Given the description of an element on the screen output the (x, y) to click on. 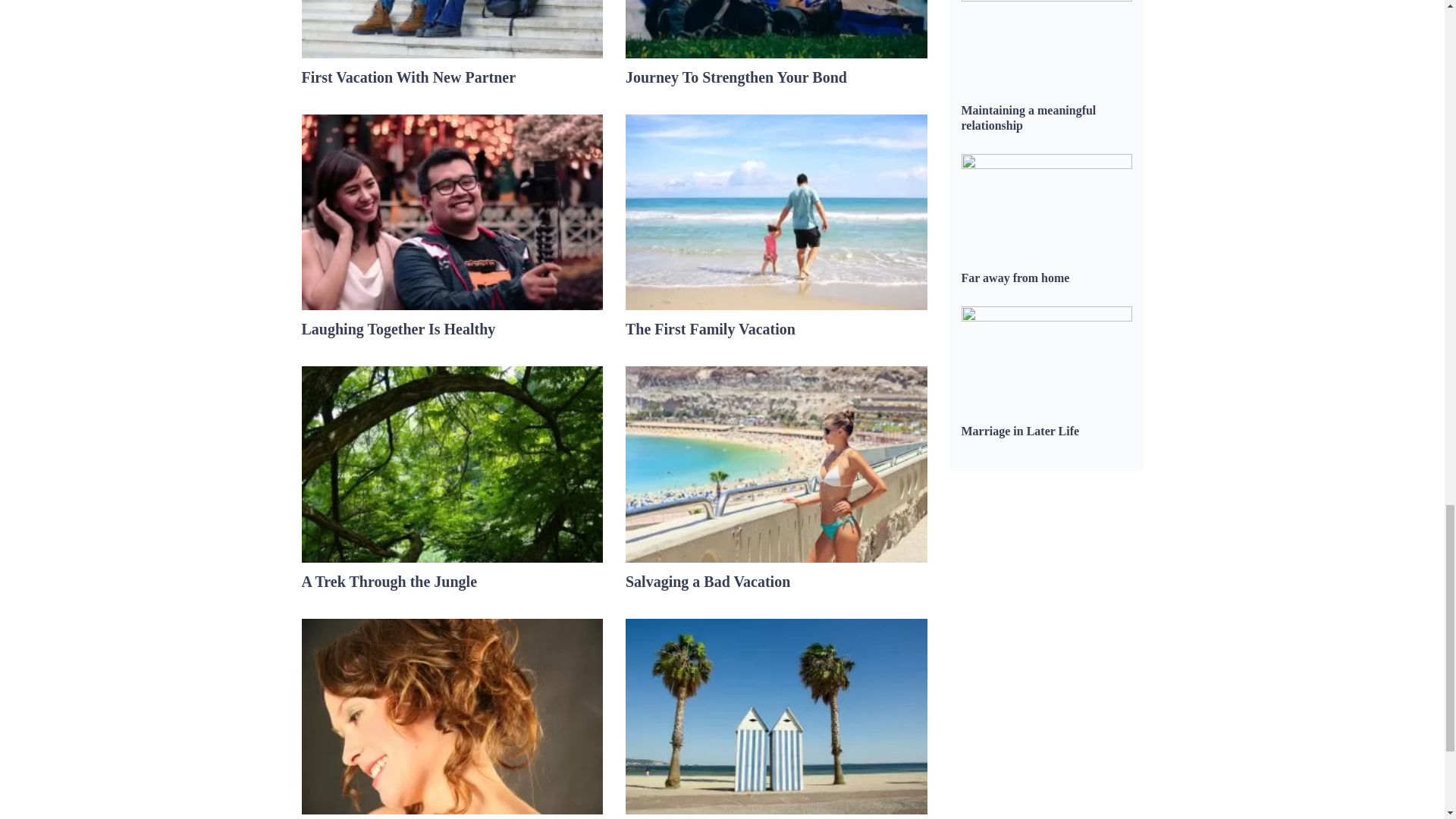
First Vacation With New Partner (408, 76)
Laughing Together Is Healthy (398, 329)
Salvaging a Bad Vacation (708, 581)
The First Family Vacation (710, 329)
A Trek Through the Jungle (389, 581)
Journey To Strengthen Your Bond (736, 76)
